Given the description of an element on the screen output the (x, y) to click on. 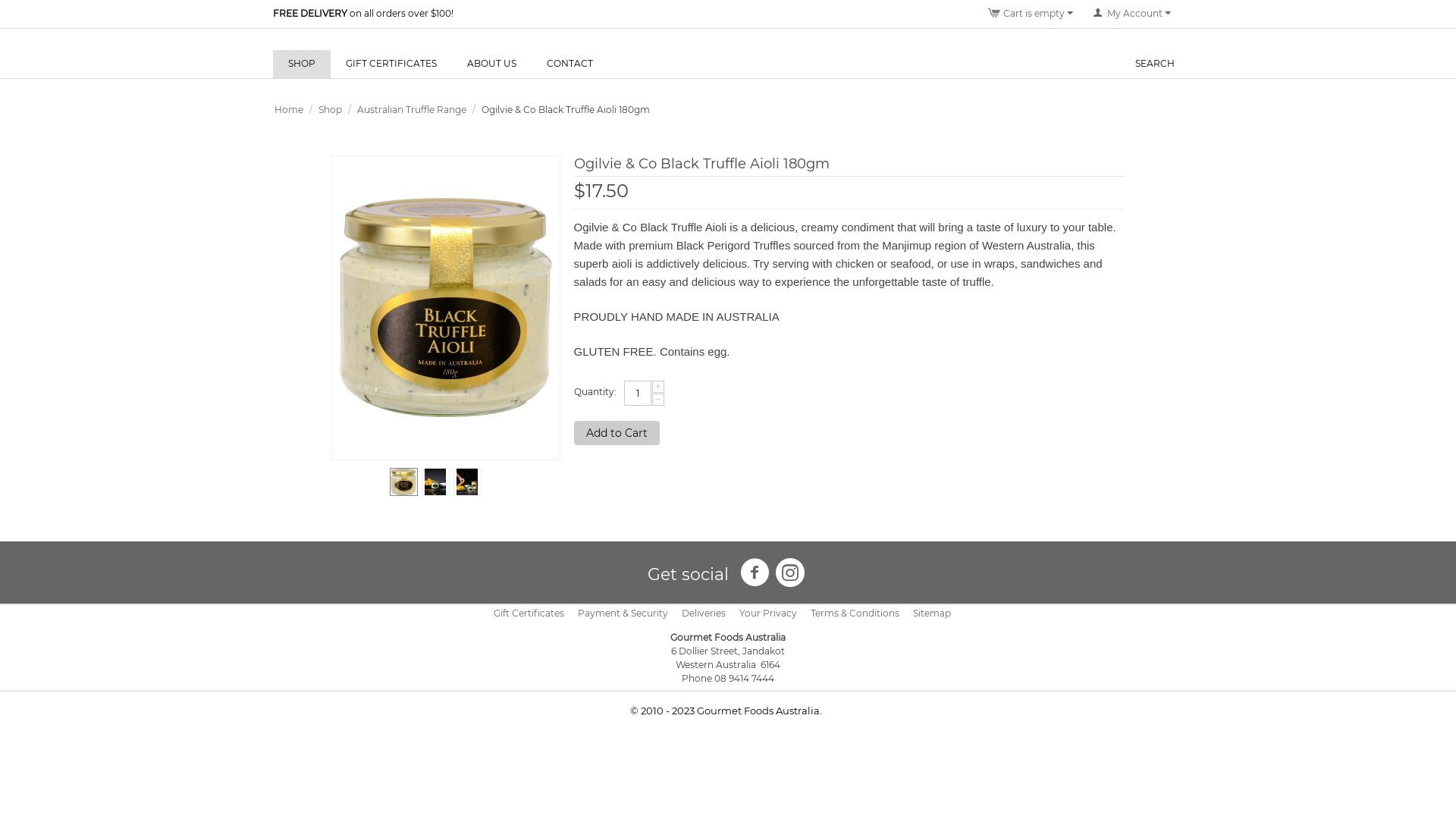
Shop Element type: text (329, 109)
SHOP Element type: text (301, 64)
ABOUT US Element type: text (491, 64)
Sitemap Element type: text (931, 612)
Australian Truffle Range Element type: text (411, 109)
GIFT CERTIFICATES Element type: text (390, 64)
Payment & Security Element type: text (622, 612)
+ Element type: text (658, 386)
Deliveries Element type: text (703, 612)
Add to Cart Element type: text (616, 432)
SEARCH Element type: text (1154, 63)
CONTACT Element type: text (569, 64)
Gift Certificates Element type: text (528, 612)
Terms & Conditions Element type: text (854, 612)
Home Element type: text (288, 109)
  My Account Element type: text (1131, 12)
Your Privacy Element type: text (768, 612)
Cart is empty Element type: text (1030, 12)
